Given the description of an element on the screen output the (x, y) to click on. 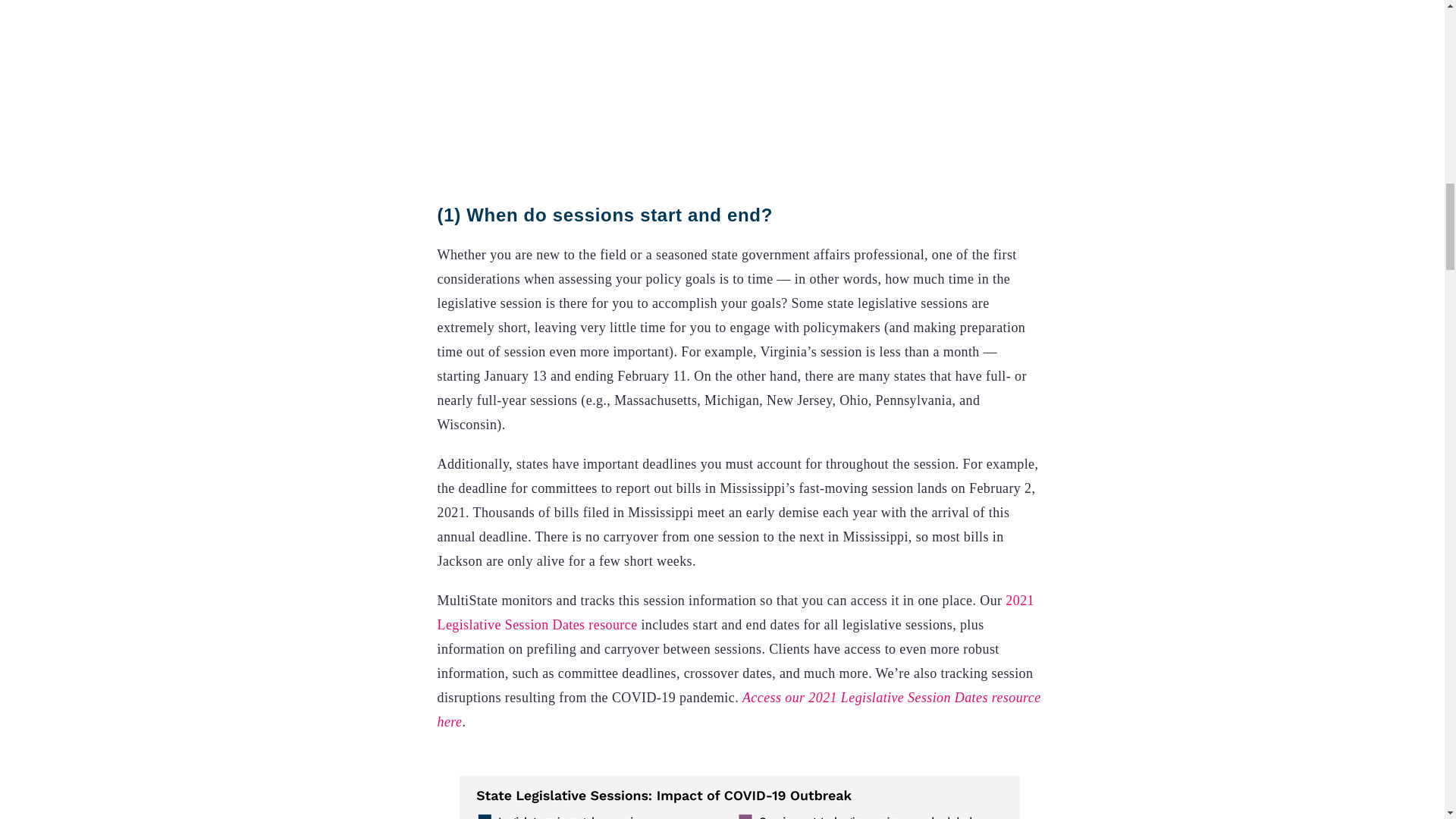
2021 Legislative Session Dates resource (736, 612)
Access our 2021 Legislative Session Dates resource here (739, 709)
Click to open full size image (739, 788)
